Given the description of an element on the screen output the (x, y) to click on. 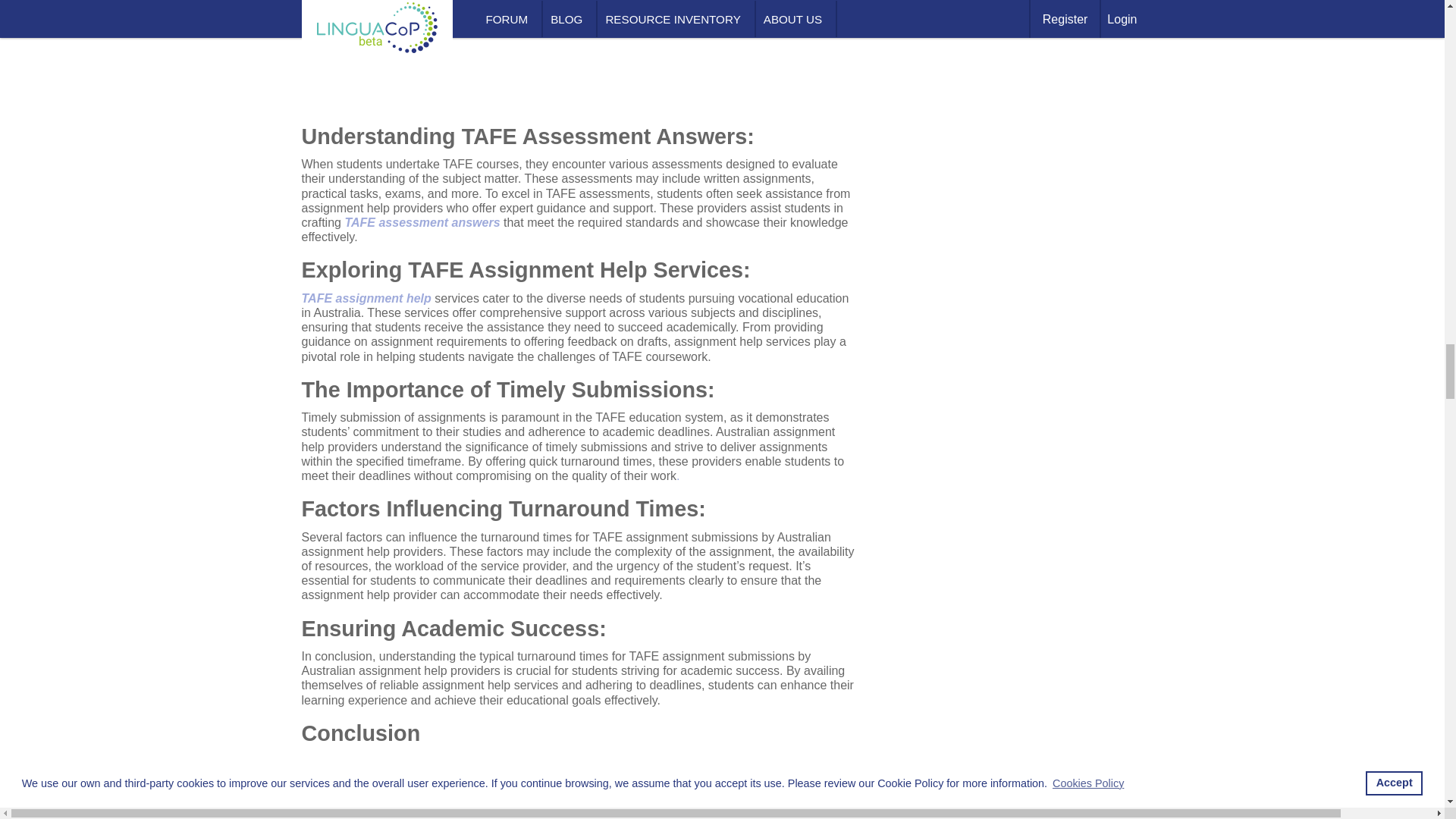
TAFE assignment help (365, 297)
TAFE assessment answers (421, 222)
. (678, 475)
